Given the description of an element on the screen output the (x, y) to click on. 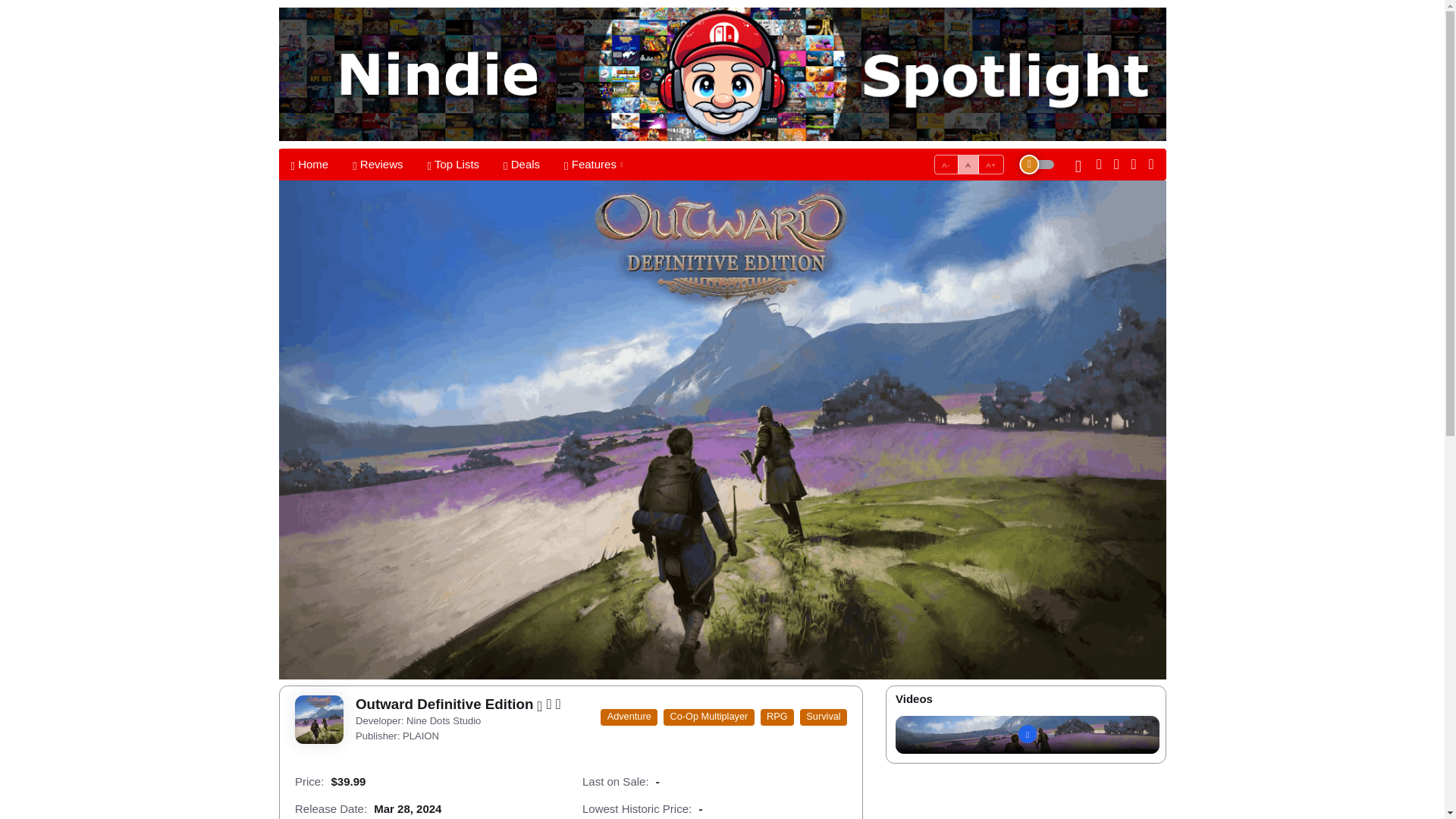
Features (451, 164)
Top Lists (587, 164)
on (453, 164)
Home (939, 159)
on (309, 164)
Reviews (939, 159)
on (377, 164)
Deals (939, 159)
